Given the description of an element on the screen output the (x, y) to click on. 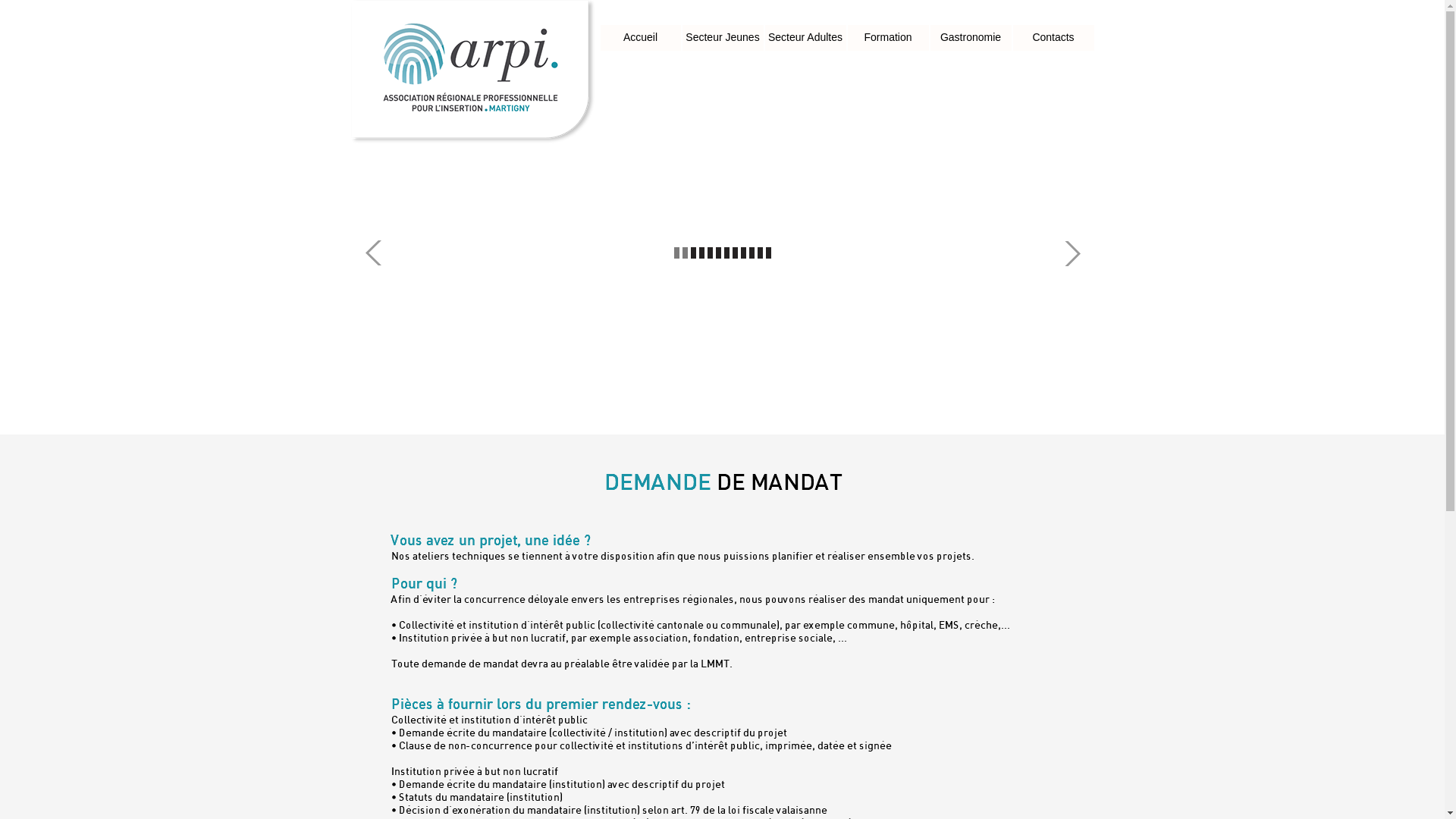
Contacts Element type: text (1053, 37)
Secteur Adultes Element type: text (804, 37)
  Element type: text (372, 252)
Gastronomie Element type: text (969, 37)
Accueil Element type: text (640, 37)
Formation Element type: text (887, 37)
Secteur Jeunes Element type: text (722, 37)
